Given the description of an element on the screen output the (x, y) to click on. 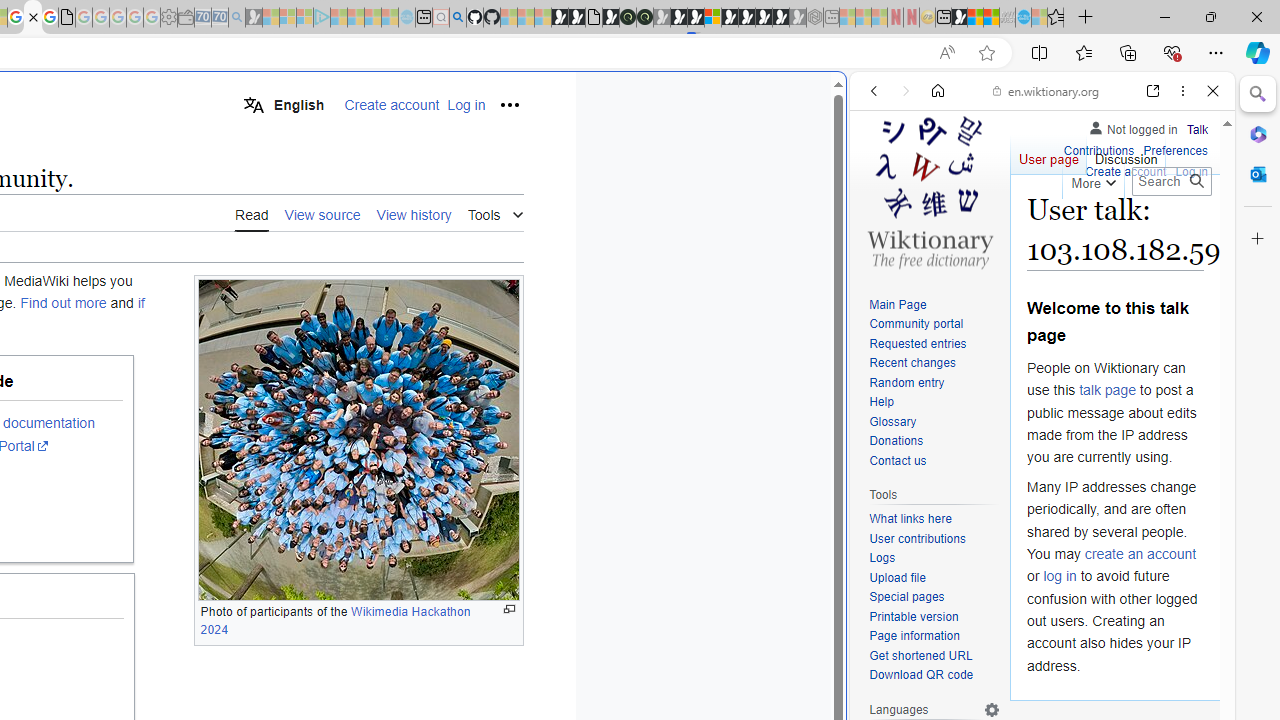
Services - Maintenance | Sky Blue Bikes - Sky Blue Bikes (1023, 17)
What links here (910, 519)
User contributions (934, 539)
Page information (914, 636)
View history (413, 214)
Get shortened URL (934, 655)
Requested entries (917, 343)
English (283, 104)
English (283, 104)
